Given the description of an element on the screen output the (x, y) to click on. 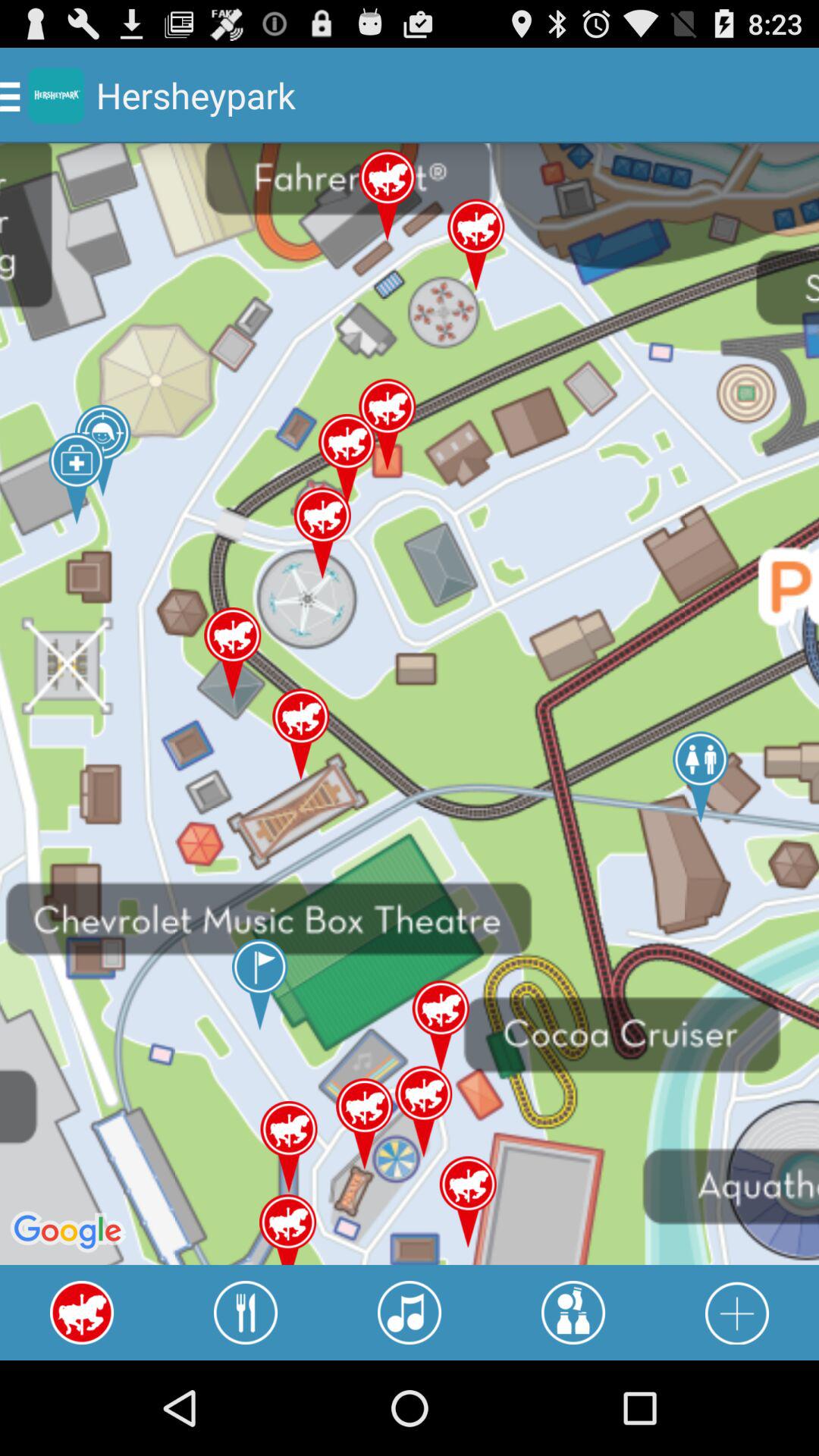
find restaurant (245, 1312)
